Given the description of an element on the screen output the (x, y) to click on. 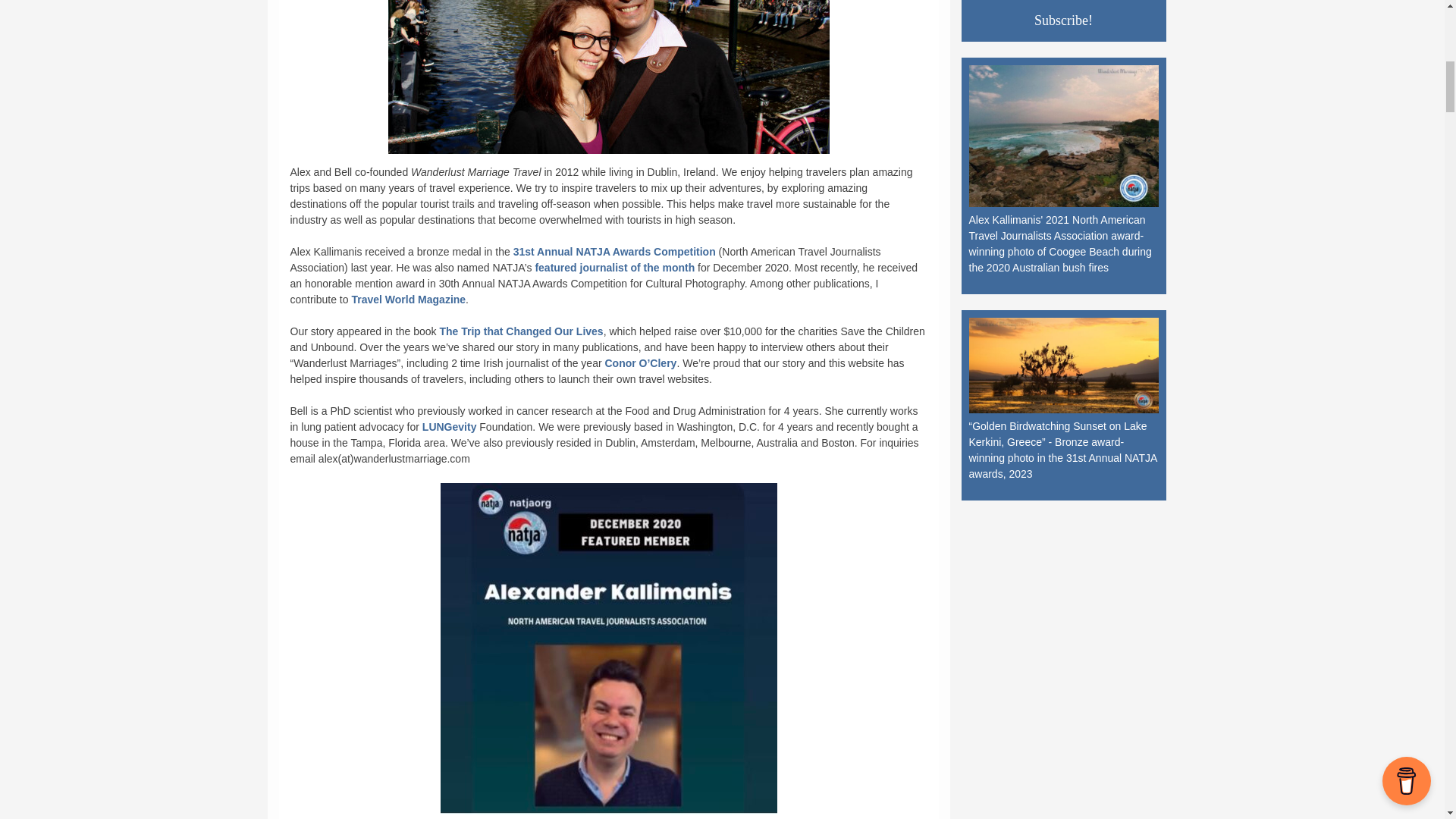
Subscribe! (1063, 20)
